Given the description of an element on the screen output the (x, y) to click on. 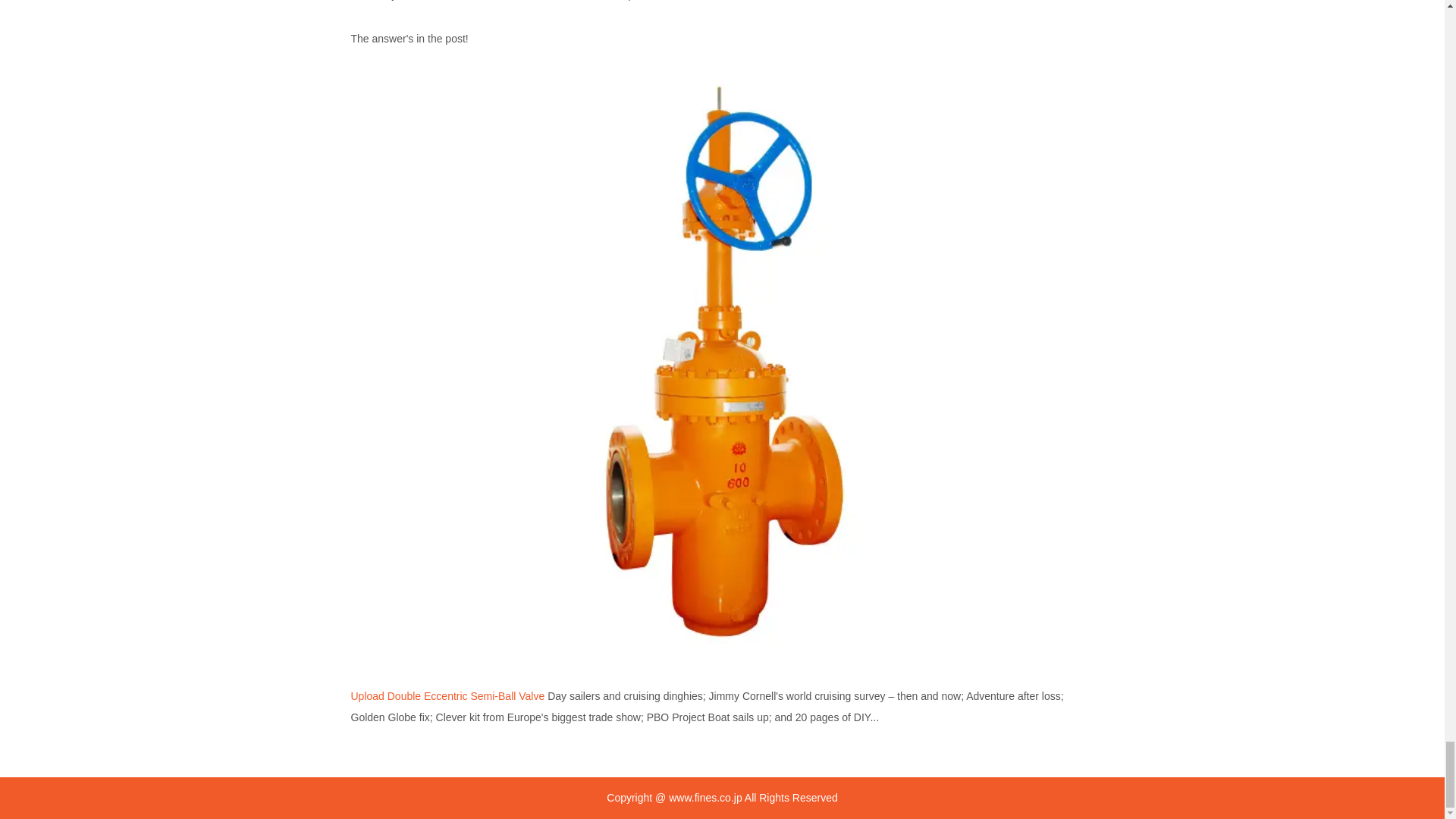
Upload Double Eccentric Semi-Ball Valve (447, 695)
